Given the description of an element on the screen output the (x, y) to click on. 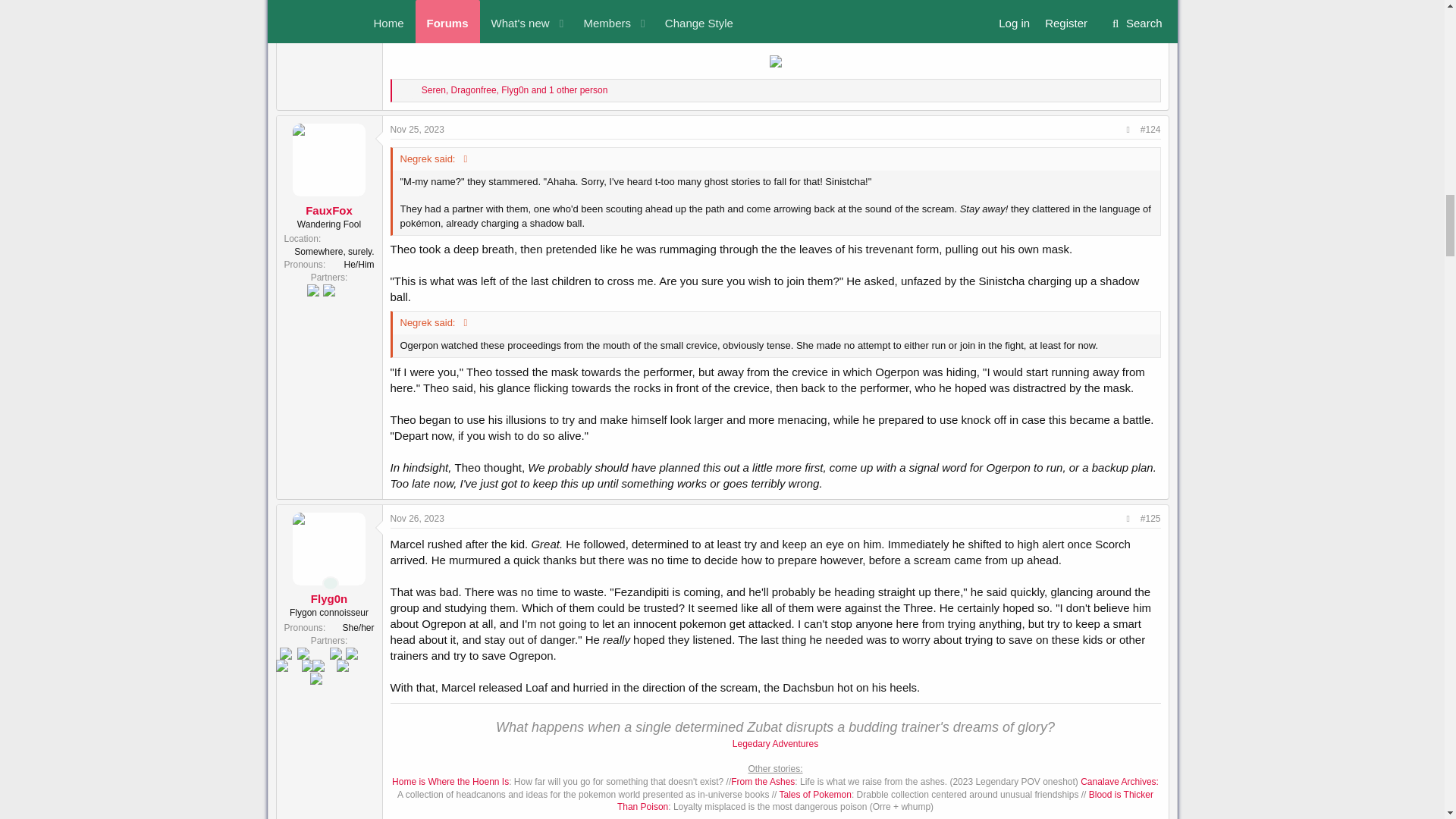
Nov 25, 2023 at 10:55 PM (417, 129)
Like (412, 91)
Eyes (401, 91)
Nov 26, 2023 at 2:22 AM (417, 518)
Online now (330, 582)
